Given the description of an element on the screen output the (x, y) to click on. 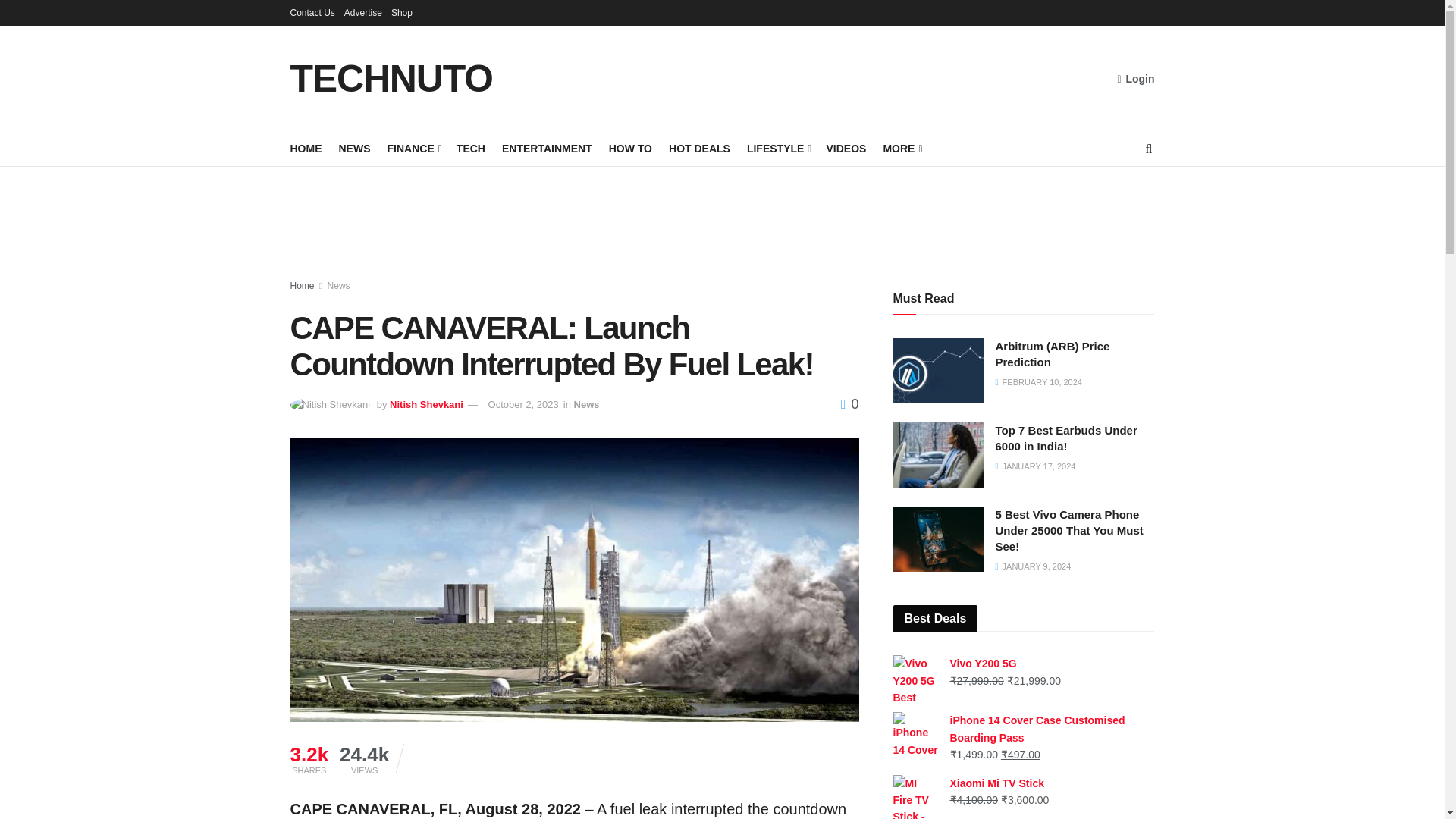
HOW TO (630, 148)
Advertise (362, 12)
VIDEOS (845, 148)
NEWS (353, 148)
TECH (470, 148)
Contact Us (311, 12)
HOT DEALS (699, 148)
MORE (901, 148)
TECHNUTO (390, 78)
HOME (305, 148)
